Given the description of an element on the screen output the (x, y) to click on. 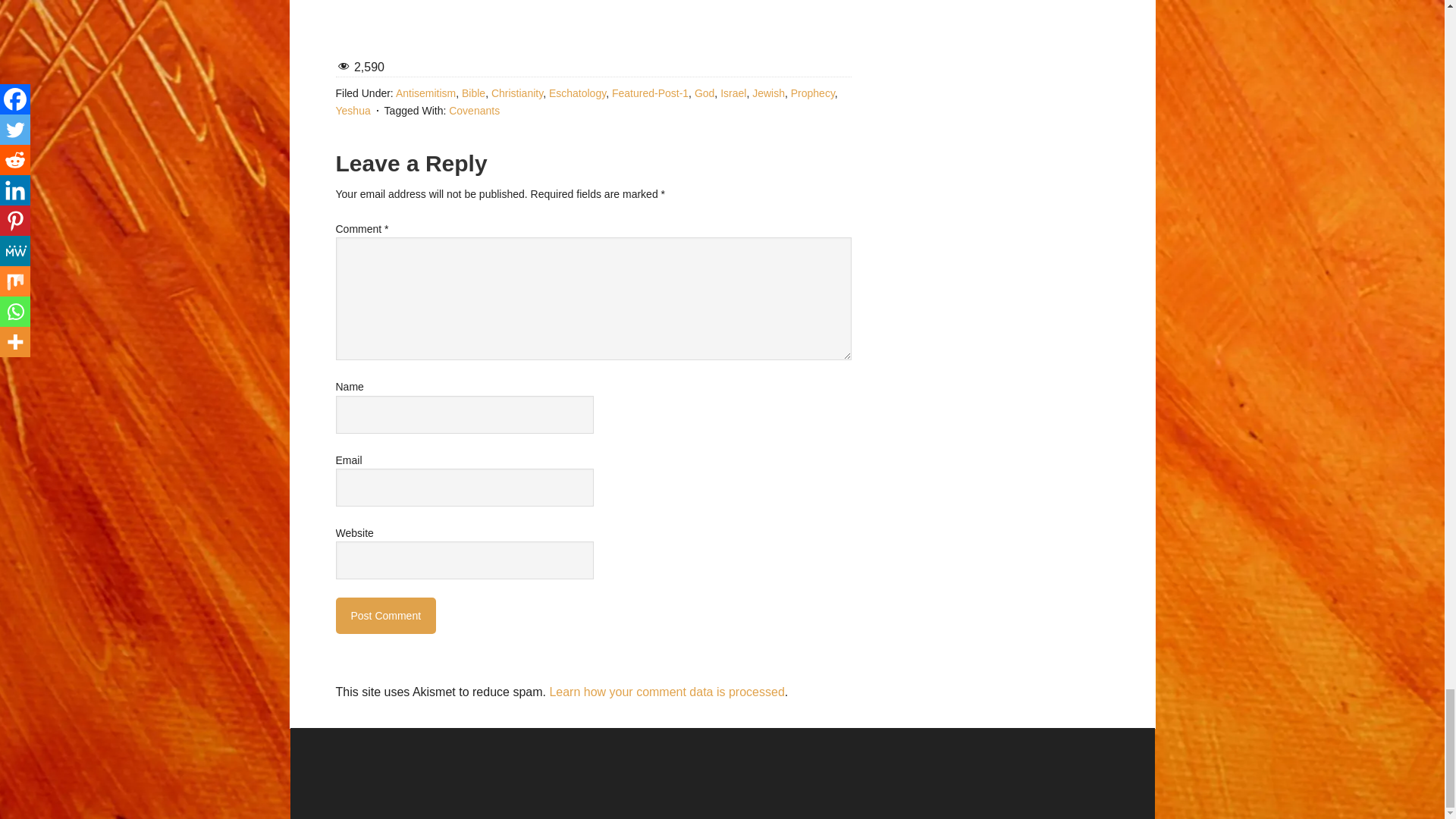
Antisemitism (425, 92)
Christianity (517, 92)
Post Comment (384, 615)
Bible (472, 92)
